Given the description of an element on the screen output the (x, y) to click on. 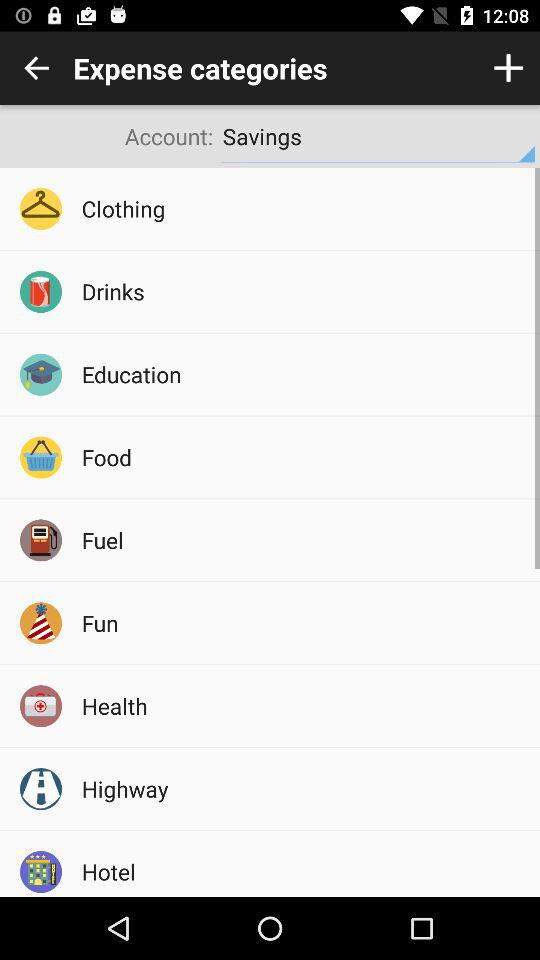
click the item below account: item (303, 208)
